Given the description of an element on the screen output the (x, y) to click on. 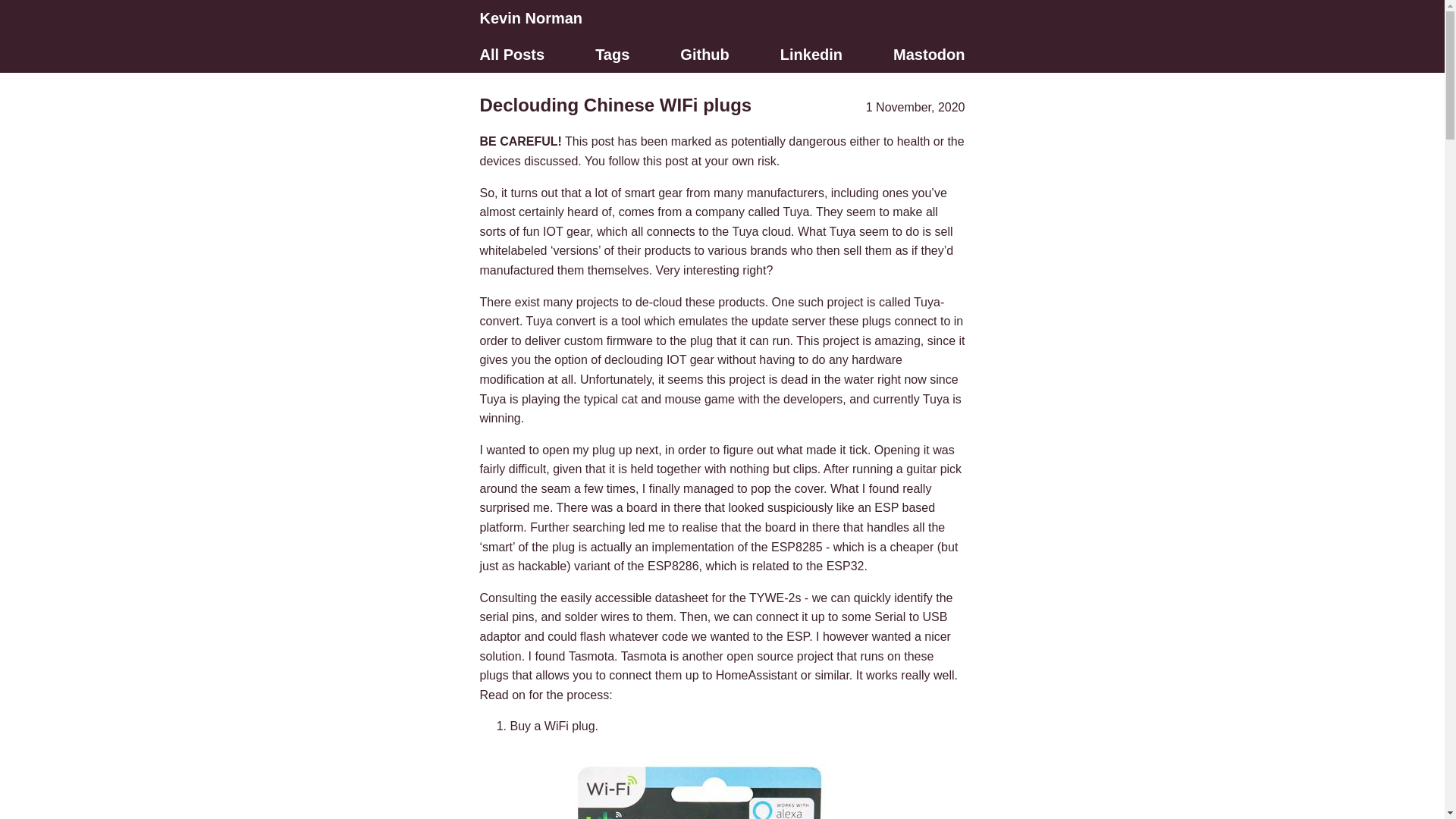
plug-package (698, 783)
Linkedin (811, 54)
Kevin Norman (530, 18)
Tags (612, 54)
Mastodon (928, 54)
Declouding Chinese WIFi plugs (615, 104)
Github (704, 54)
All Posts (512, 54)
